Given the description of an element on the screen output the (x, y) to click on. 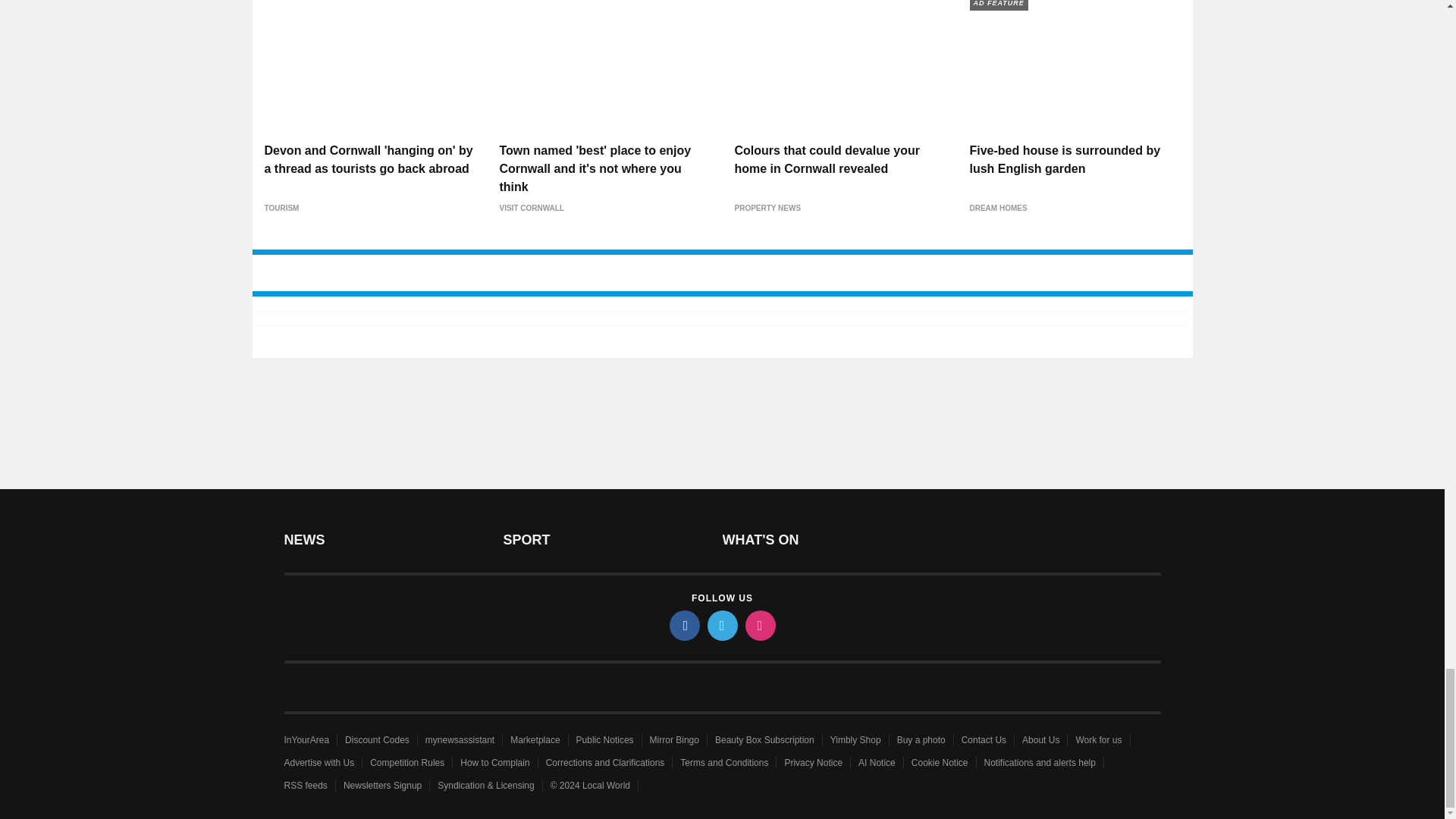
facebook (683, 625)
twitter (721, 625)
instagram (759, 625)
